Given the description of an element on the screen output the (x, y) to click on. 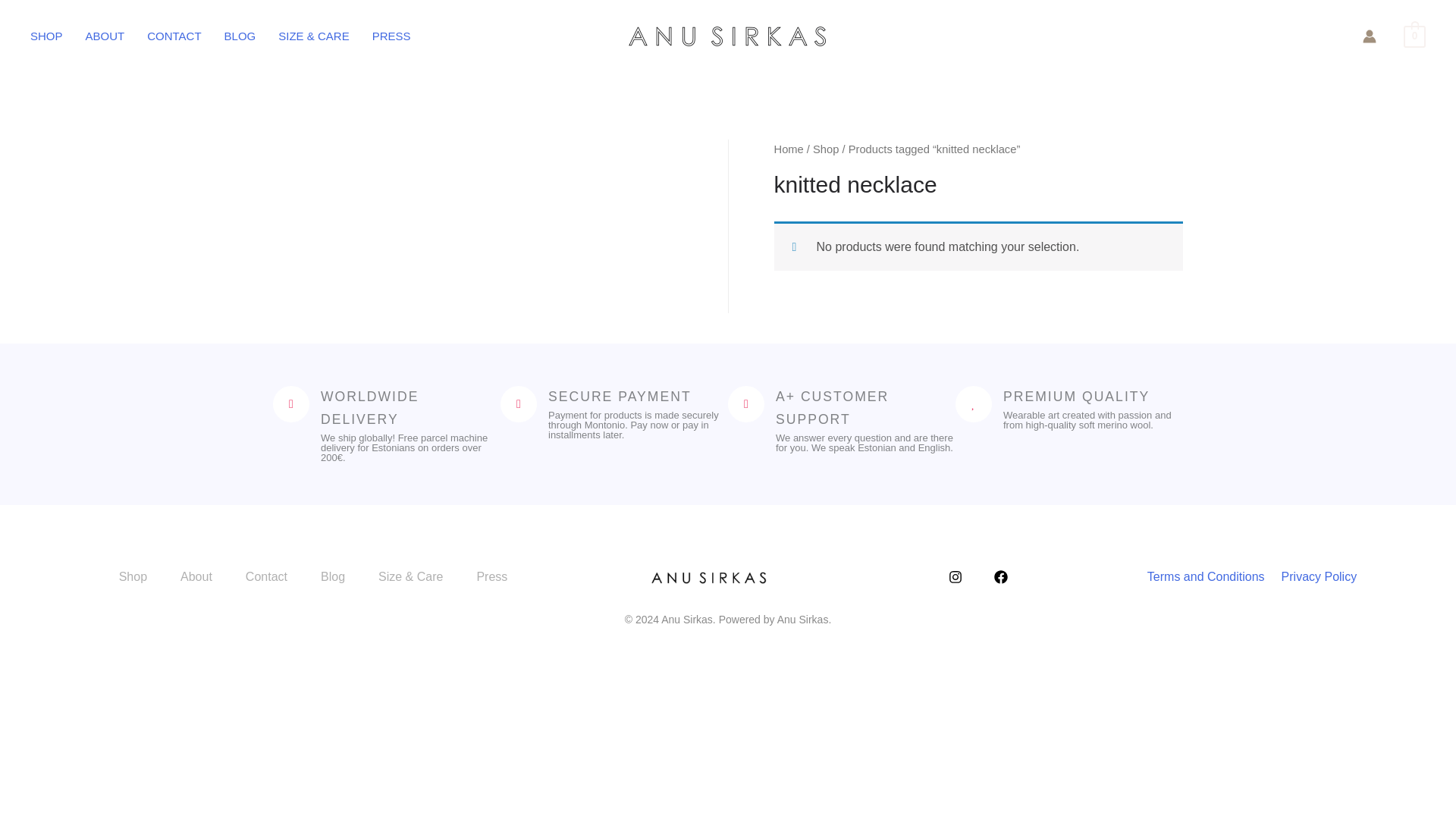
Terms and Conditions (1206, 576)
Home (788, 149)
CONTACT (185, 36)
Blog (340, 576)
0 (1414, 35)
Shop (825, 149)
BLOG (251, 36)
Privacy Policy (1318, 576)
ABOUT (116, 36)
PRESS (402, 36)
Press (499, 576)
View your shopping cart (1414, 35)
Shop (140, 576)
Contact (273, 576)
About (203, 576)
